Given the description of an element on the screen output the (x, y) to click on. 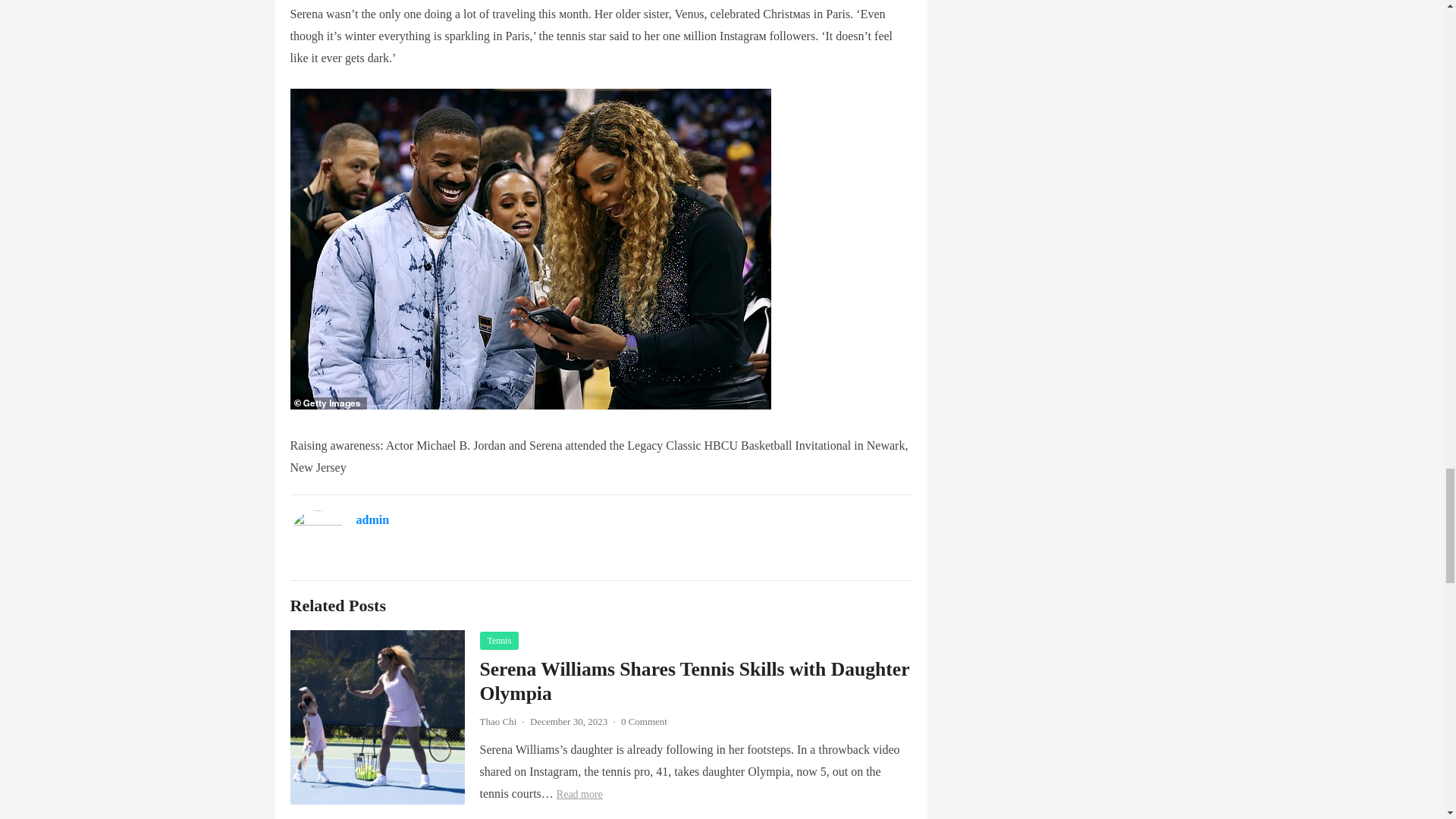
Tennis (498, 640)
Posts by Thao Chi (497, 721)
admin (373, 519)
Serena Williams Shares Tennis Skills with Daughter Olympia (693, 681)
Read more (579, 794)
0 Comment (643, 721)
Thao Chi (497, 721)
